Given the description of an element on the screen output the (x, y) to click on. 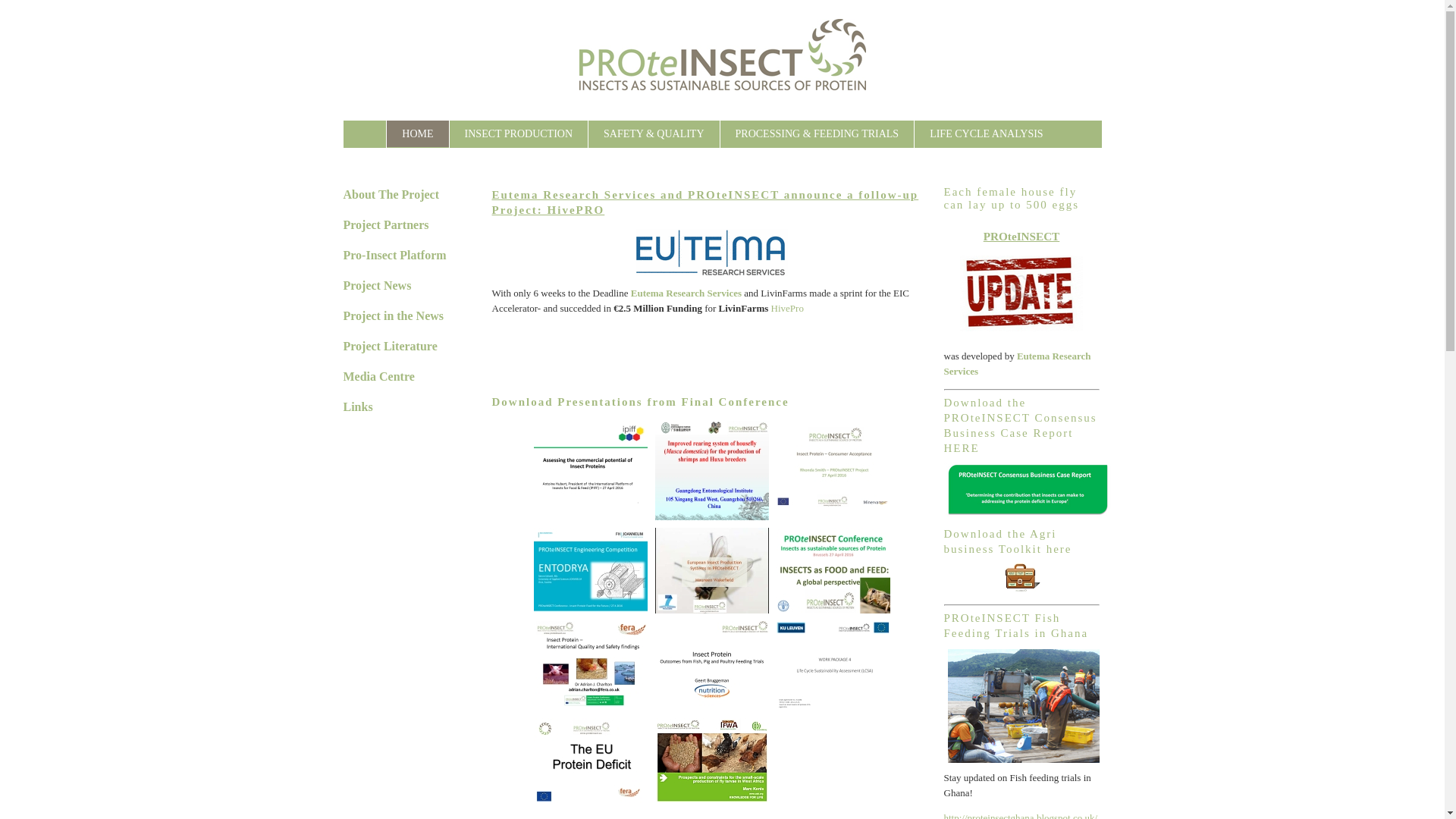
Project News (376, 285)
Pro-Insect Platform (393, 254)
LIFE CYCLE ANALYSIS (986, 133)
INSECT PRODUCTION (518, 133)
HOME (417, 133)
Opens external link in new window (1016, 363)
Media Centre (377, 376)
Opens external link in new window (787, 308)
Project Partners (384, 224)
HivePro (787, 308)
Opens external link in new window (685, 293)
Eutema Research Services (685, 293)
About The Project (390, 194)
Project Literature (389, 345)
